Given the description of an element on the screen output the (x, y) to click on. 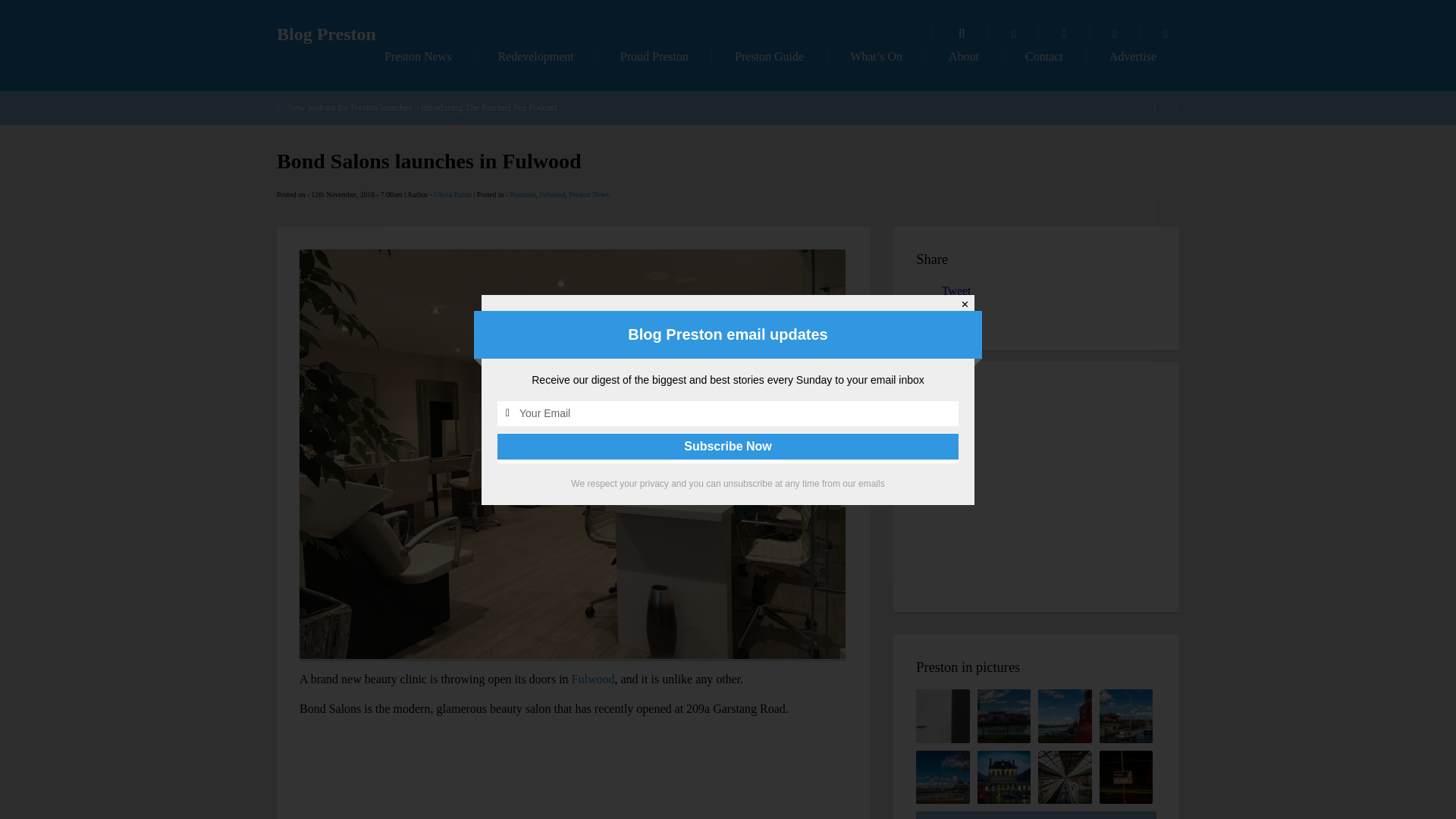
About Blog Preston (963, 56)
Fulwood (551, 194)
View more (1035, 815)
Olivia Baron (452, 194)
Photos from around Preston (1013, 33)
Latest Preston news (417, 56)
Blog Preston on Instagram (1165, 33)
Redevelopment news in and around Preston (534, 56)
Blog Preston on Facebook (1064, 33)
Contact (1044, 56)
Preston Guide (769, 56)
Advertise (1132, 56)
Blog Preston on Twitter (1114, 33)
Contact Blog Preston (1044, 56)
Preston News (417, 56)
